Given the description of an element on the screen output the (x, y) to click on. 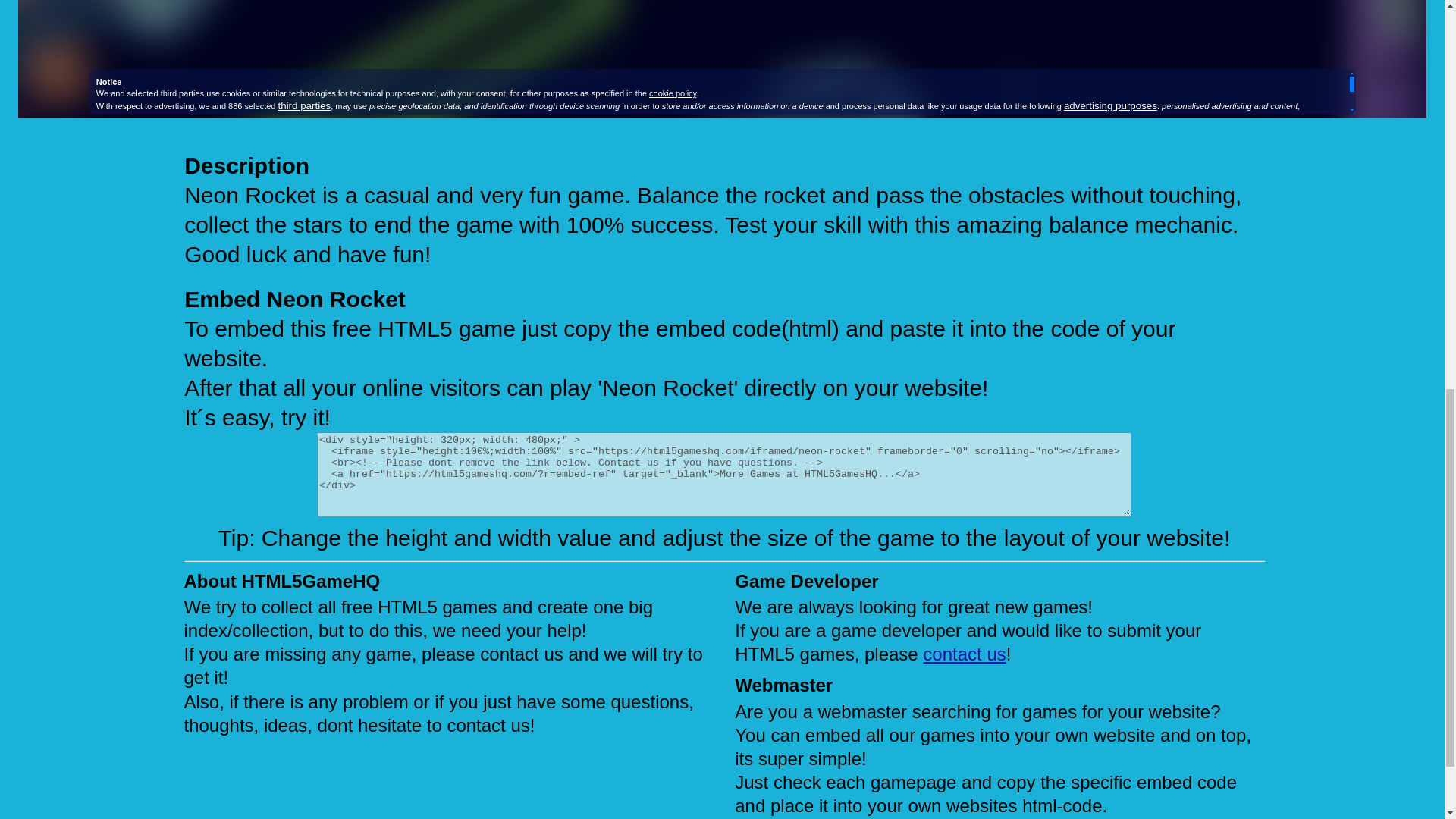
contact us (964, 653)
